Given the description of an element on the screen output the (x, y) to click on. 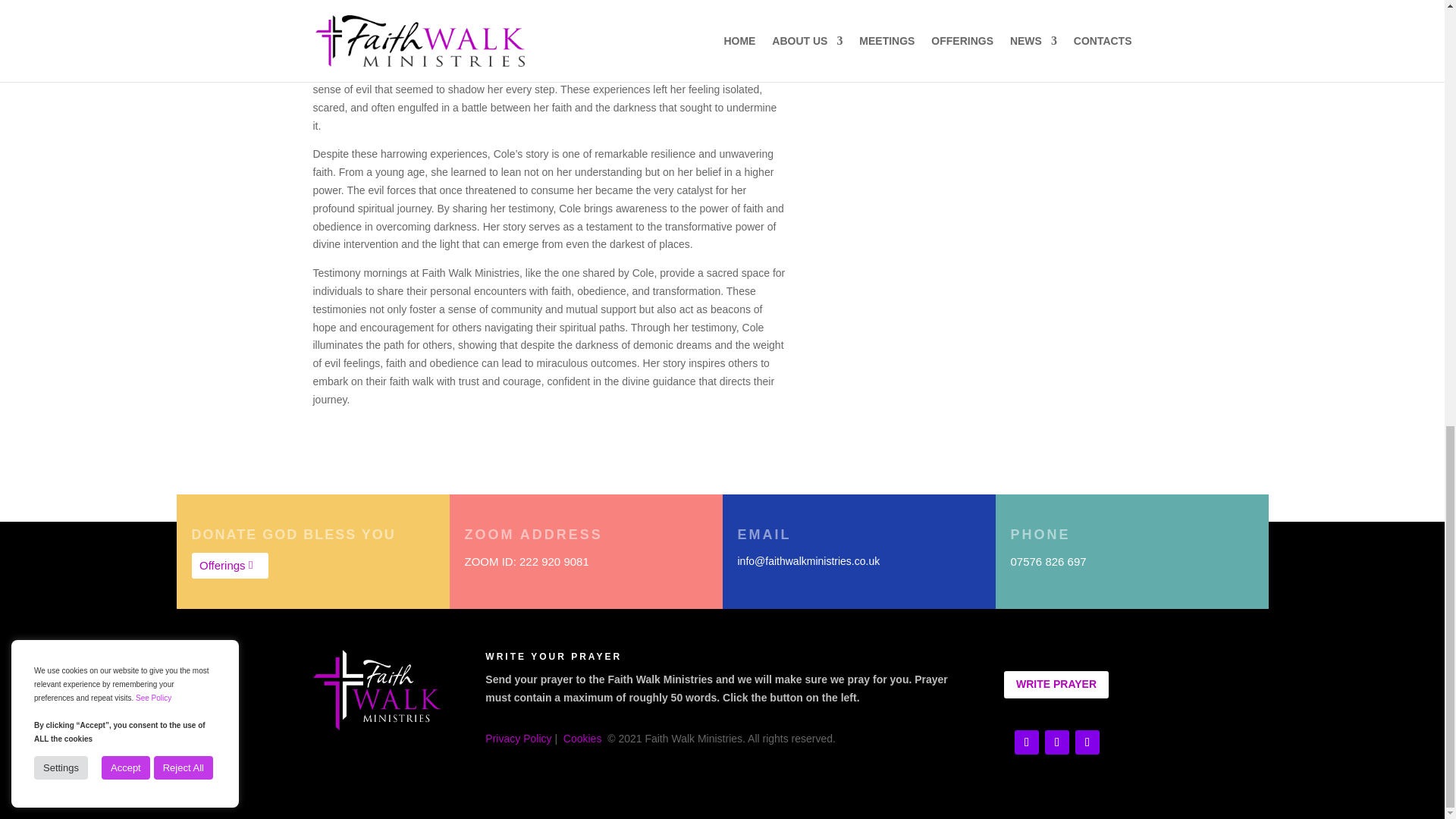
Cookies (582, 738)
Privacy Policy (517, 738)
Submit (1091, 37)
Follow on Instagram (1087, 742)
Follow on TikTok (1056, 742)
Offerings (228, 565)
WRITE PRAYER (1056, 684)
logo-v3-bwsq (376, 690)
Follow on Youtube (1026, 742)
